Given the description of an element on the screen output the (x, y) to click on. 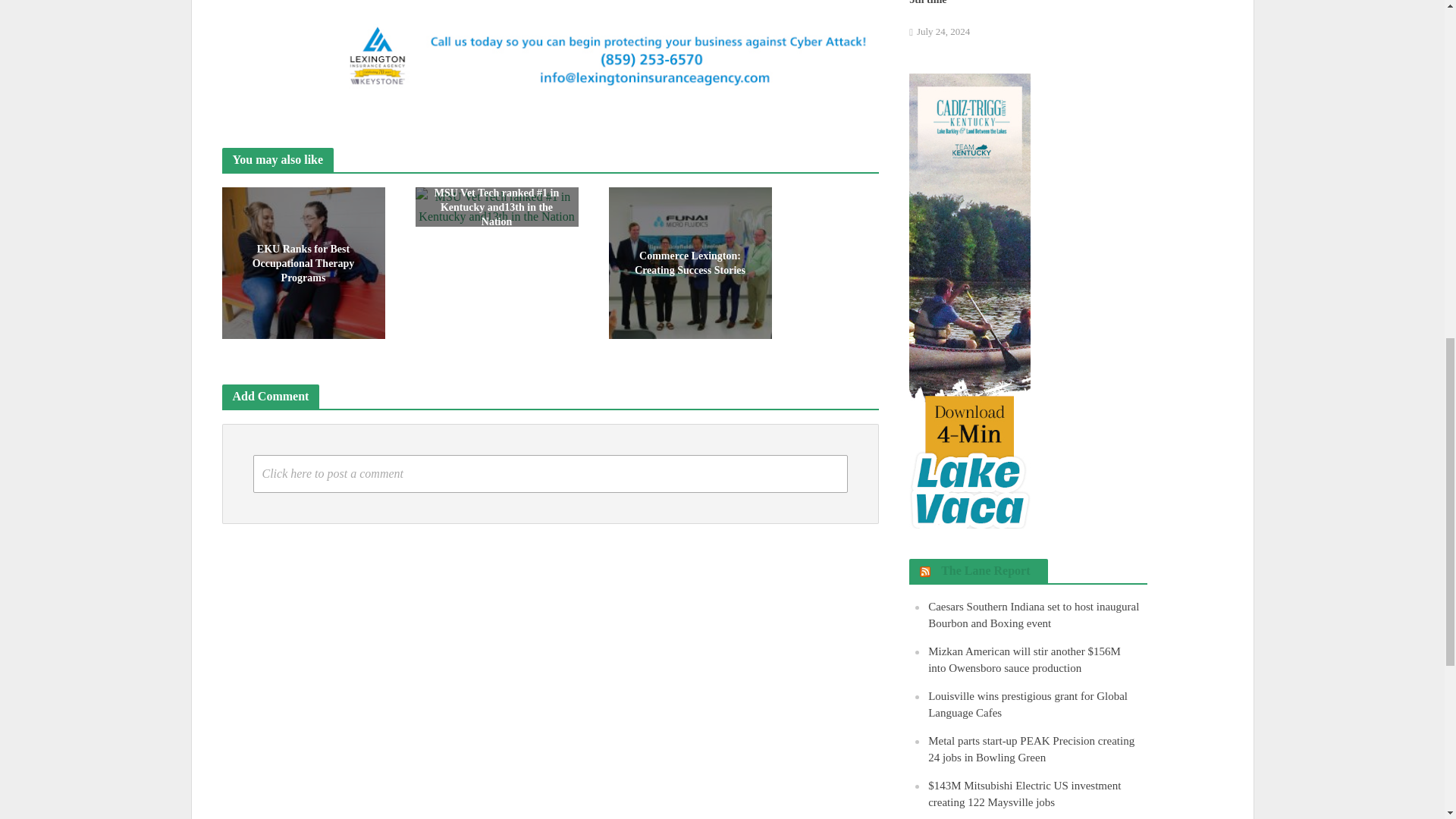
Commerce Lexington: Creating Success Stories (689, 261)
EKU Ranks for Best Occupational Therapy Programs (302, 261)
